Given the description of an element on the screen output the (x, y) to click on. 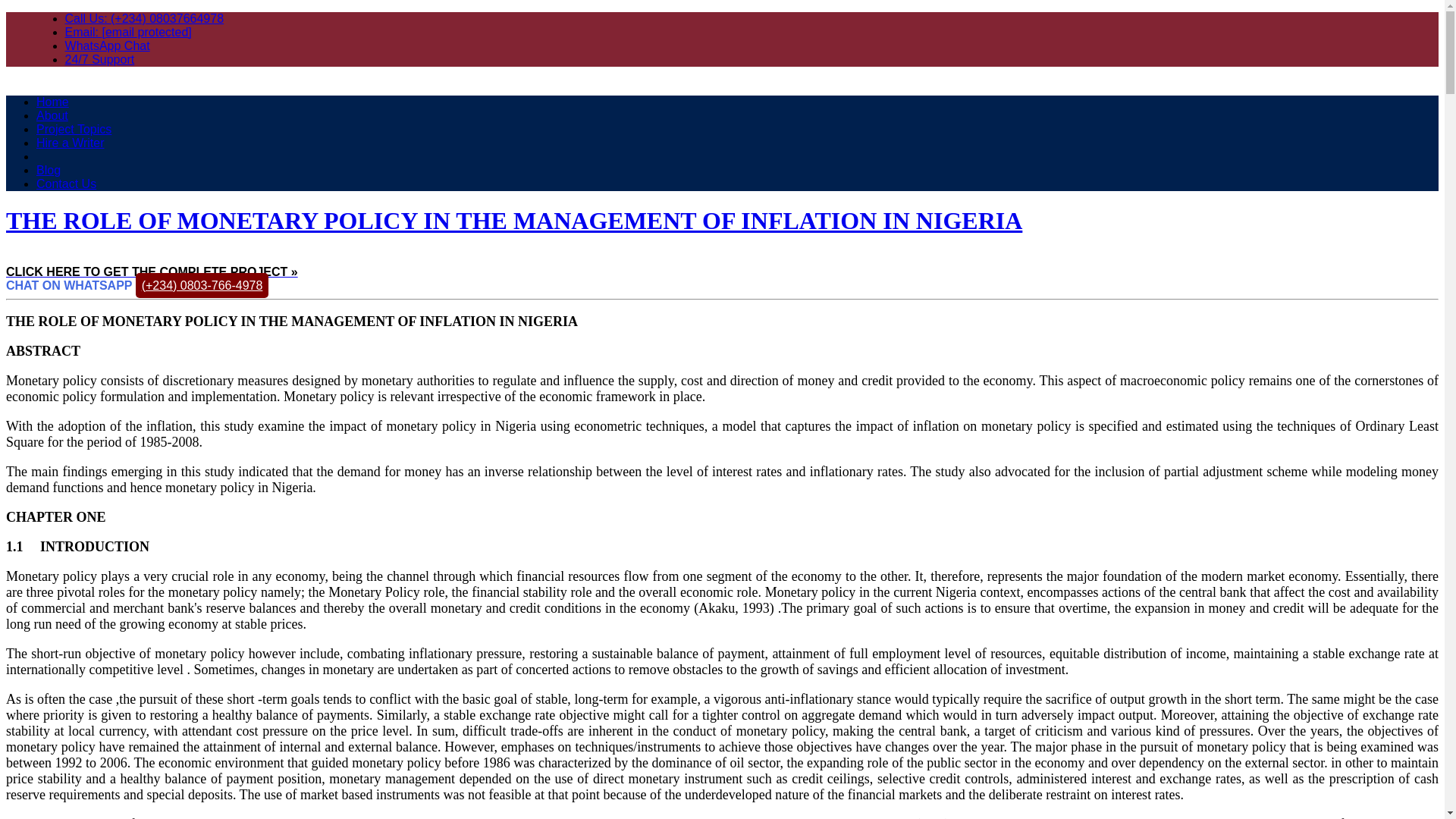
Hire a Writer (70, 142)
About (52, 115)
Blog (48, 169)
Project Topics (74, 128)
WhatsApp Chat (107, 45)
Home (52, 101)
Contact Us (66, 183)
